Given the description of an element on the screen output the (x, y) to click on. 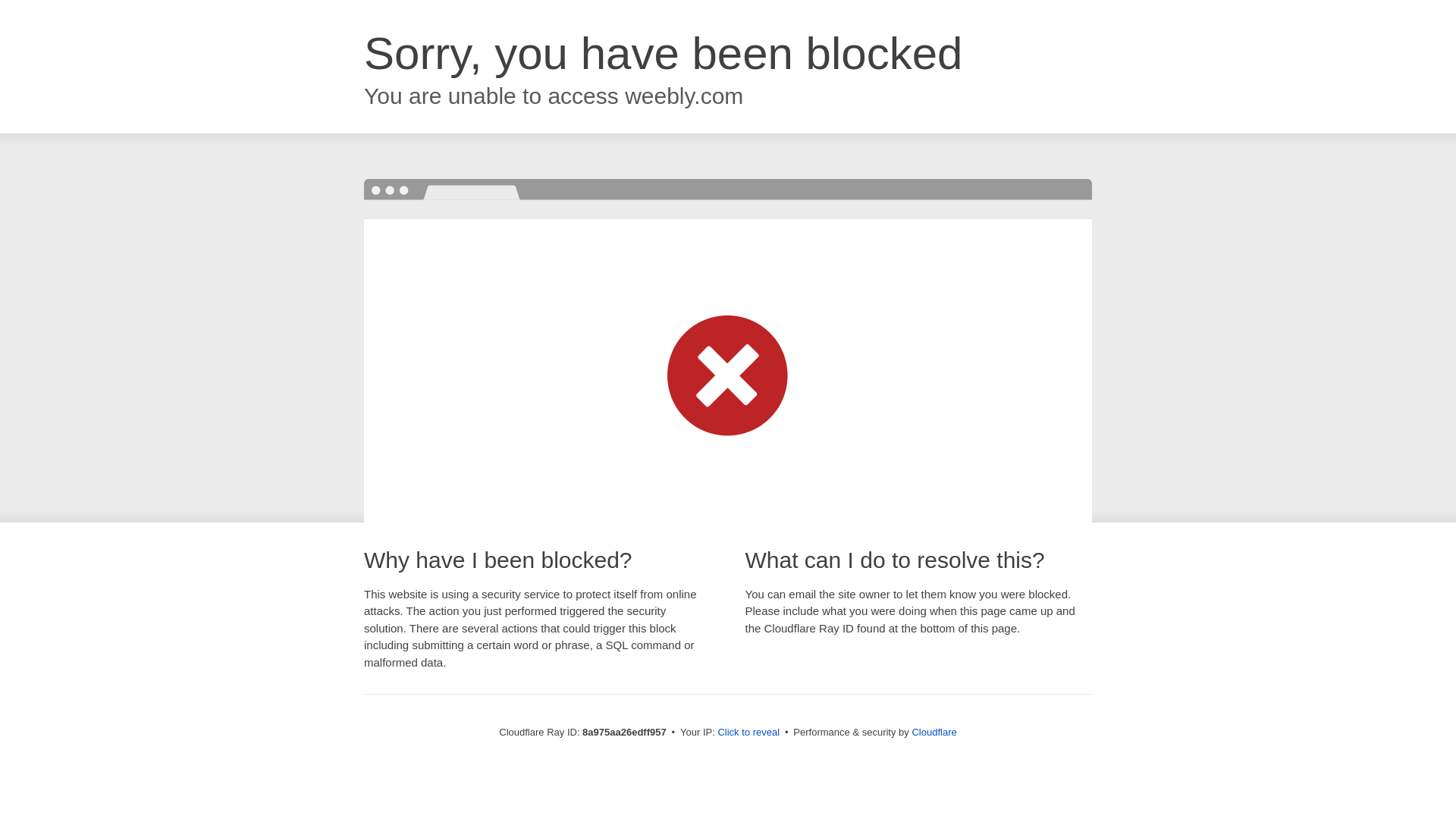
Click to reveal (747, 732)
Cloudflare (933, 731)
